Given the description of an element on the screen output the (x, y) to click on. 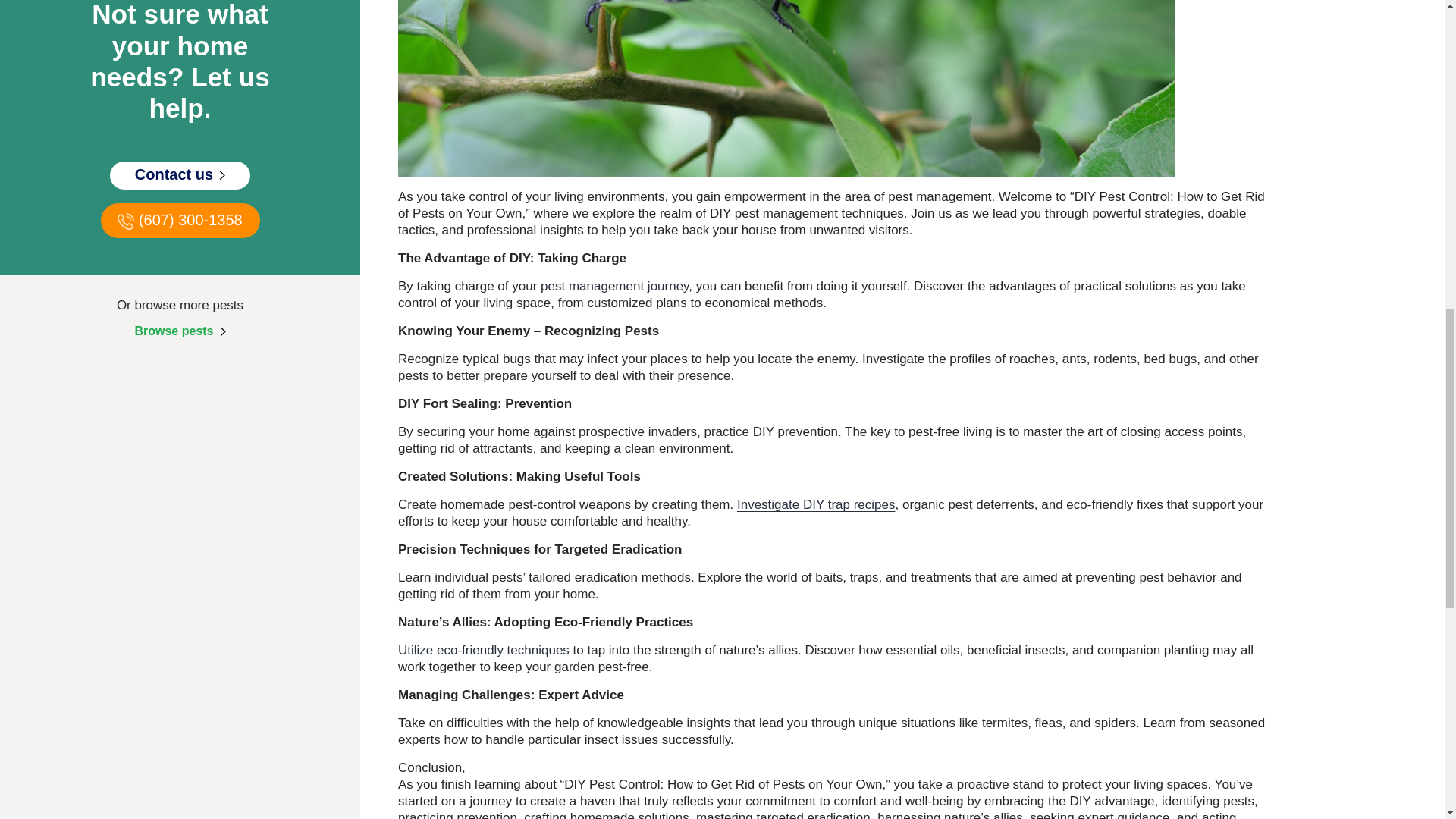
Investigate DIY trap recipes (815, 504)
pest management journey (614, 286)
Contact us (180, 175)
Utilize eco-friendly techniques (483, 649)
Browse pests (179, 330)
